Given the description of an element on the screen output the (x, y) to click on. 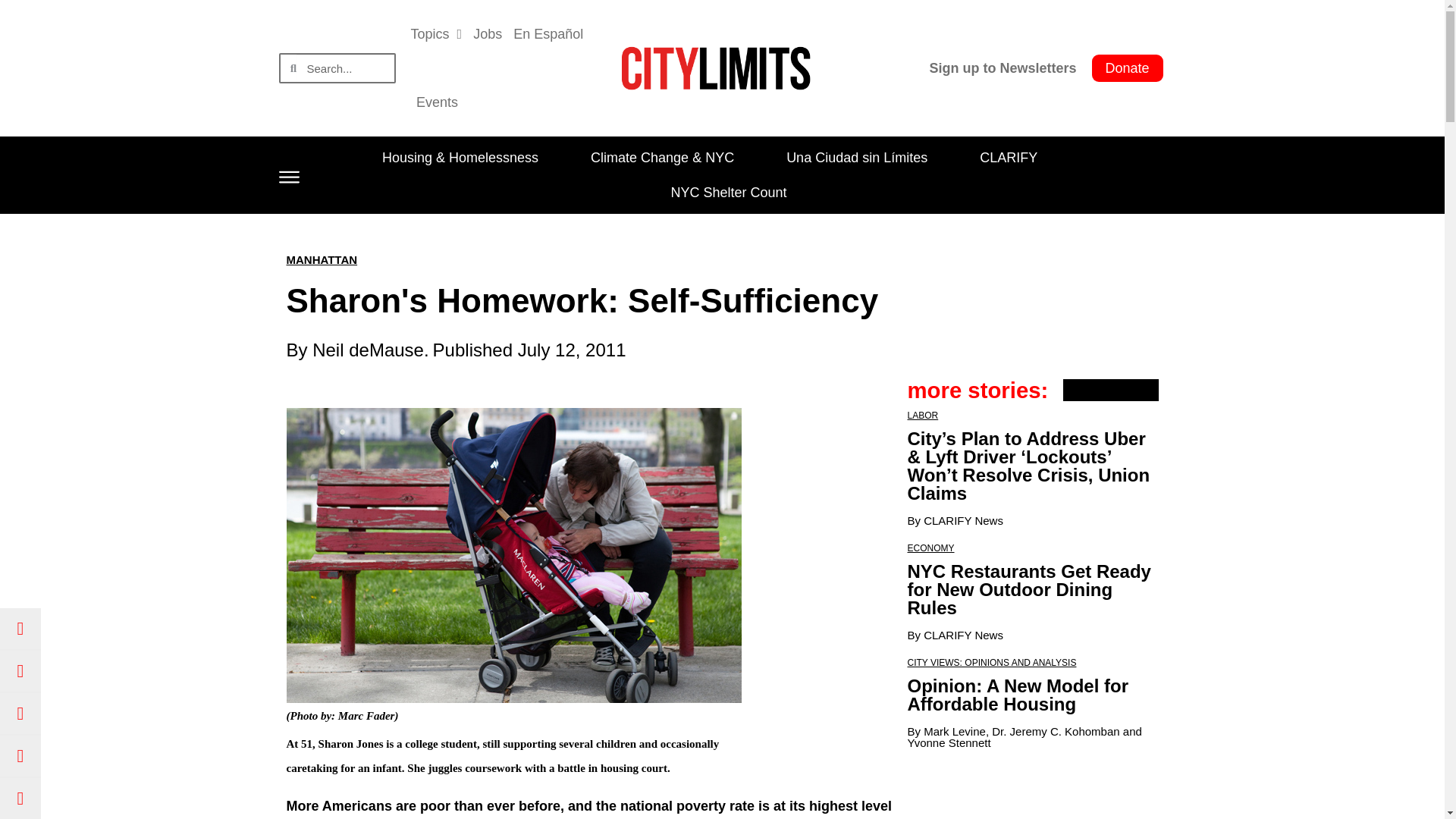
Read Articles in the Manhattan category (322, 259)
Read All Posts By Neil deMause (368, 349)
Donate (1127, 67)
Sign up to Newsletters (1003, 68)
Read Articles in the Labor category (922, 415)
Read All Posts By CLARIFY News (963, 520)
